Given the description of an element on the screen output the (x, y) to click on. 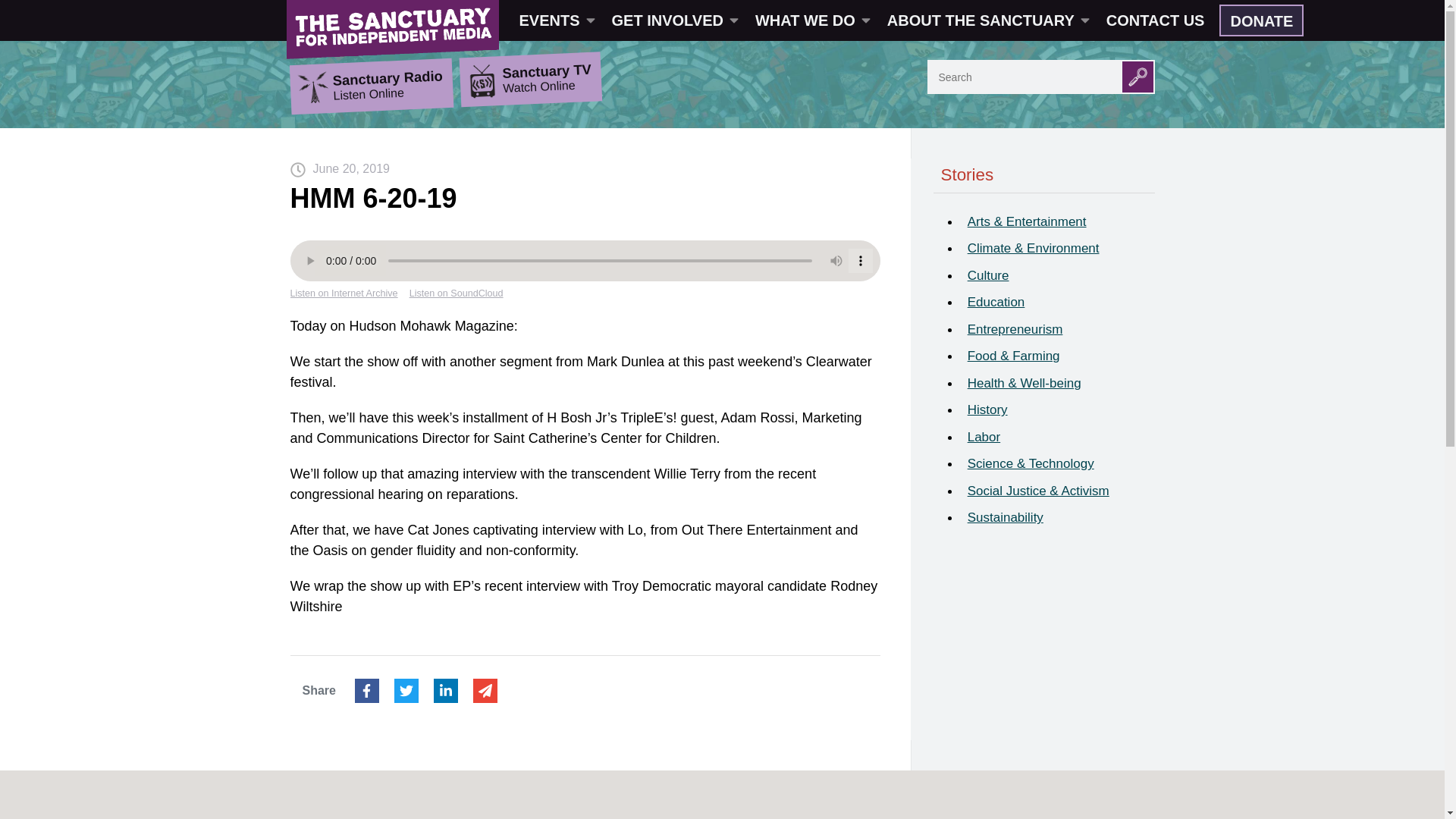
ABOUT THE SANCTUARY (987, 20)
WHAT WE DO (811, 20)
GET INVOLVED (673, 20)
EVENTS (555, 20)
